Given the description of an element on the screen output the (x, y) to click on. 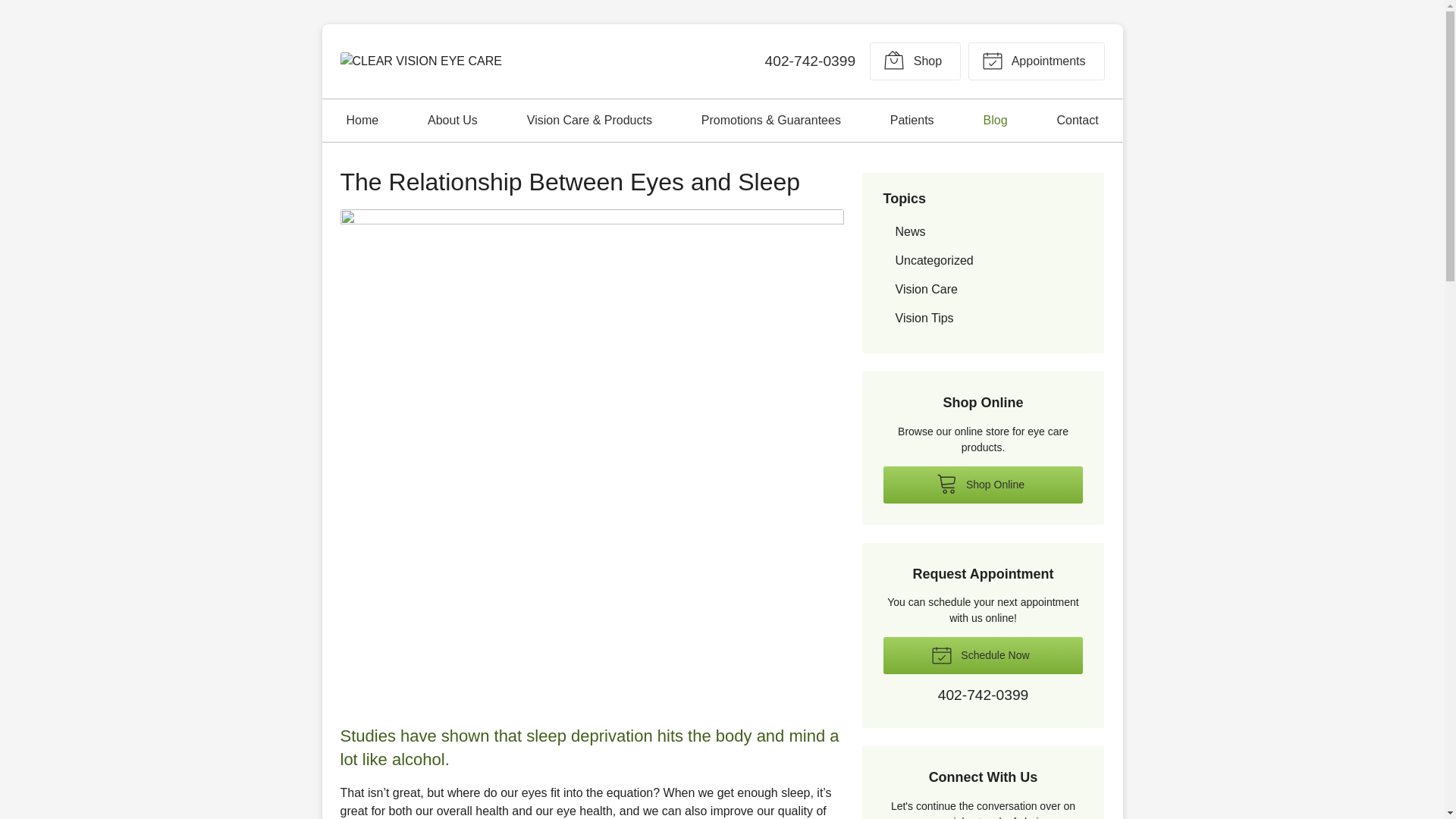
402-742-0399 (810, 60)
Blog (995, 120)
Contact (1077, 120)
Shop Online (914, 61)
Home (362, 120)
Appointments (1035, 61)
Shop (914, 61)
Call practice (810, 60)
Shop Online (982, 484)
Patients (912, 120)
Call practice (983, 695)
Request Appointment (1035, 61)
About Us (452, 120)
Schedule Now (982, 655)
